Given the description of an element on the screen output the (x, y) to click on. 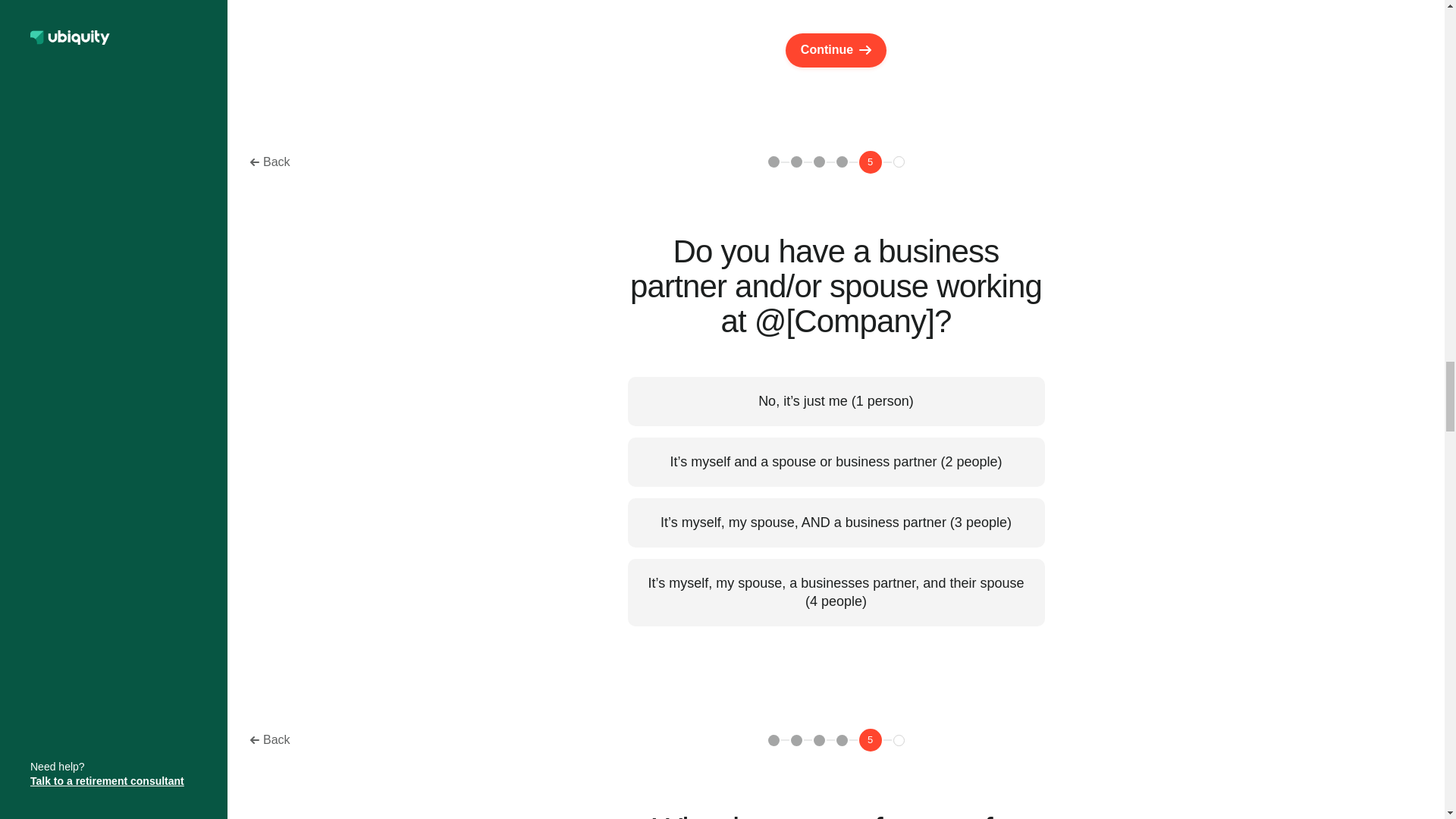
Back (269, 161)
Continue (836, 50)
Back (269, 740)
